Given the description of an element on the screen output the (x, y) to click on. 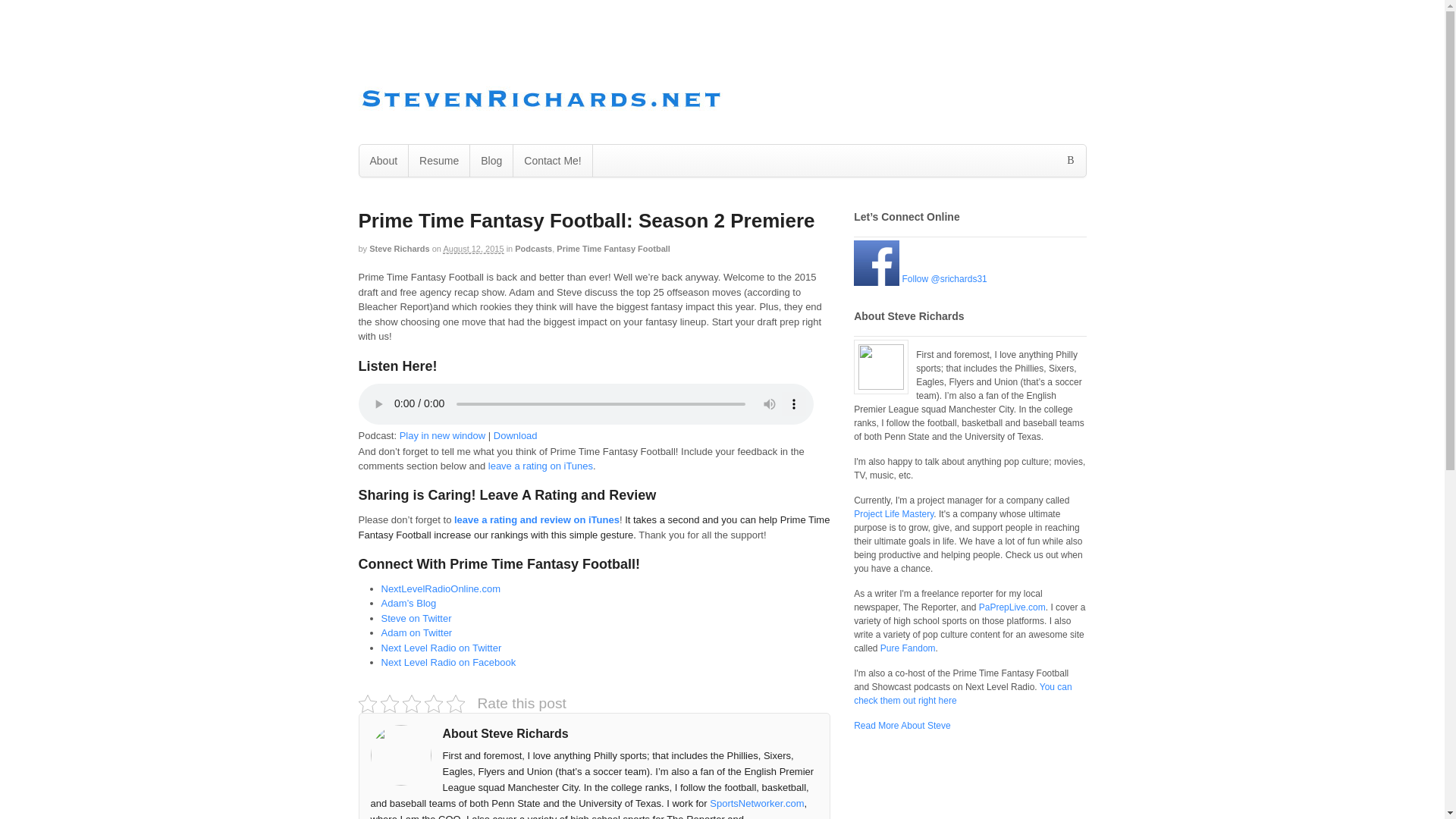
Blog (491, 160)
Resume (438, 160)
Adam on Twitter (415, 632)
Play in new window (441, 435)
Prime Time Fantasy Football (612, 248)
Steve Richards (399, 248)
Next Level Radio on Facebook (447, 662)
Posts by Steve Richards (399, 248)
Download (515, 435)
Download (515, 435)
2015-08-12T12:00:53-0400 (472, 248)
Next Level Radio on Twitter (440, 647)
SportsNetworker.com (756, 803)
leave a rating and review on iTunes (537, 519)
